Given the description of an element on the screen output the (x, y) to click on. 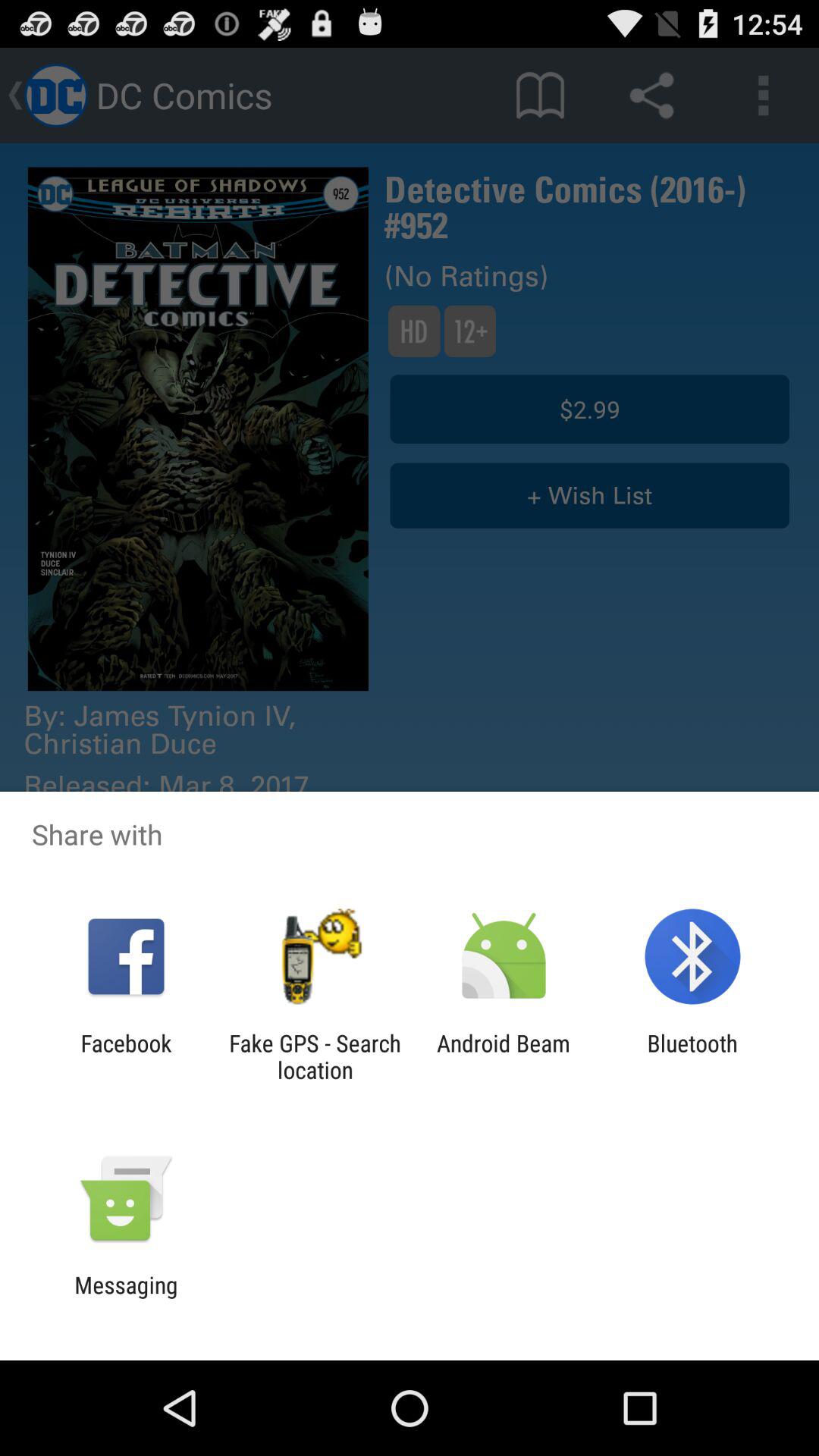
choose the facebook item (125, 1056)
